Given the description of an element on the screen output the (x, y) to click on. 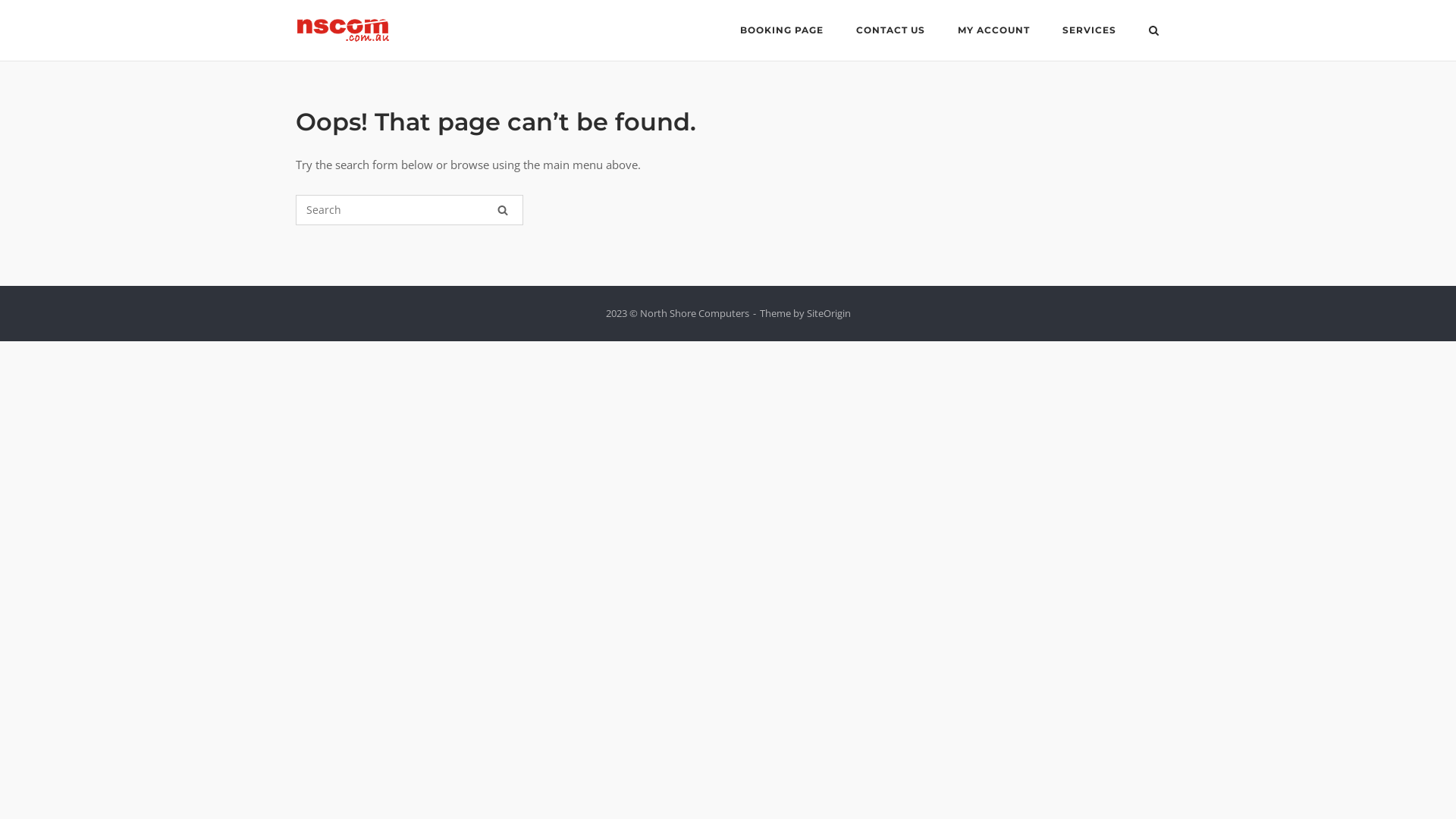
MY ACCOUNT Element type: text (993, 32)
CONTACT US Element type: text (890, 32)
BOOKING PAGE Element type: text (781, 32)
SERVICES Element type: text (1089, 32)
SiteOrigin Element type: text (828, 313)
